Given the description of an element on the screen output the (x, y) to click on. 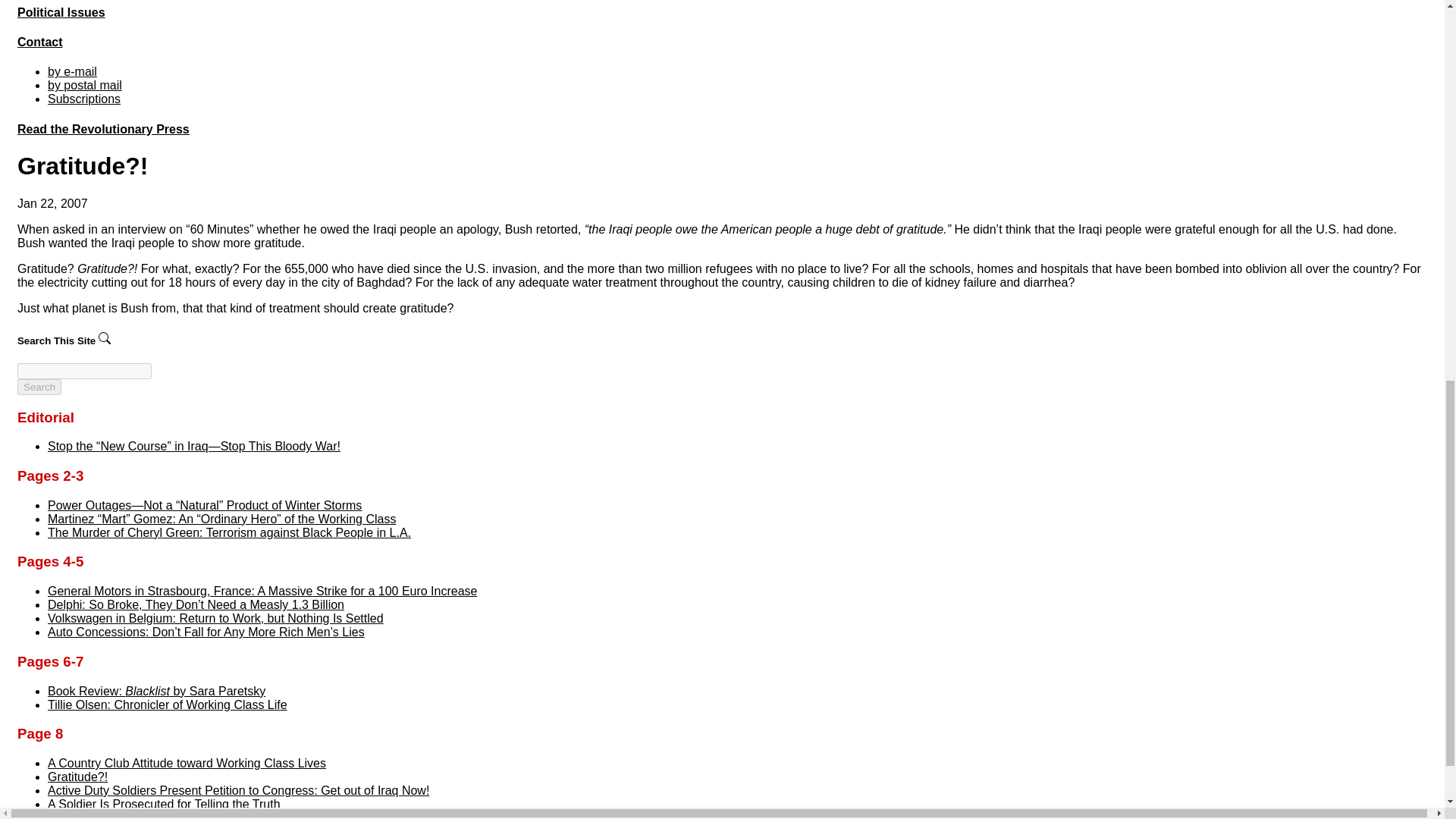
Political Issues (60, 11)
Subscriptions (84, 98)
Revolutionary Publications from Other Countries (103, 128)
Search (39, 386)
Read the Revolutionary Press (103, 128)
Postal mail addresses (85, 84)
e-mail (72, 71)
by postal mail (85, 84)
Subscription Information (84, 98)
Contact (39, 42)
by e-mail (72, 71)
